Given the description of an element on the screen output the (x, y) to click on. 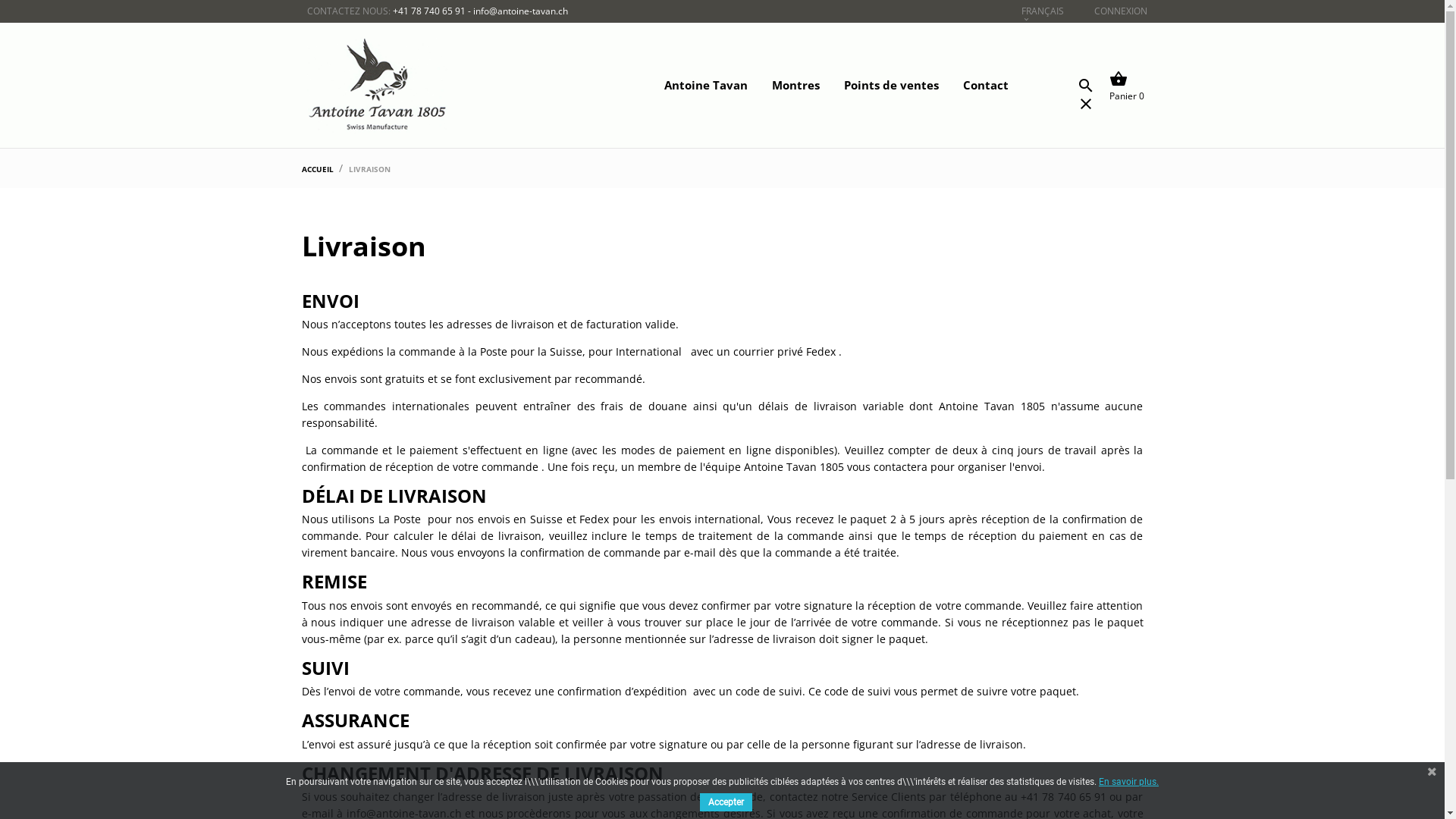
Antoine Tavan Element type: text (695, 84)
LIVRAISON Element type: text (369, 168)
CONNEXION Element type: text (1119, 10)
Contact Element type: text (975, 84)
Montres Element type: text (785, 84)
En savoir plus. Element type: text (1128, 780)
Points de ventes Element type: text (880, 84)
ACCUEIL Element type: text (318, 168)
Accepter Element type: text (725, 802)
